Given the description of an element on the screen output the (x, y) to click on. 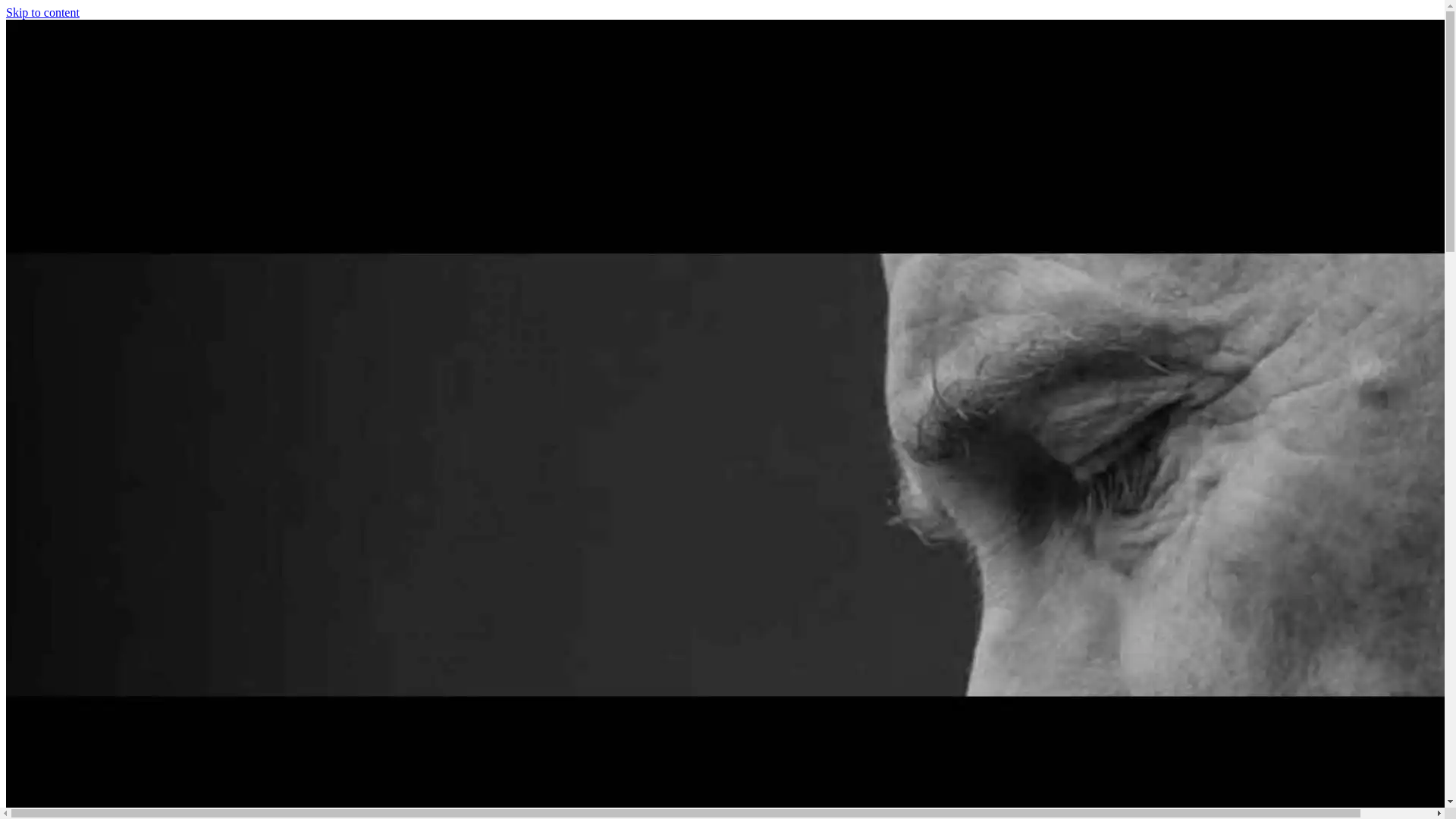
Skip to content Element type: text (42, 12)
